Given the description of an element on the screen output the (x, y) to click on. 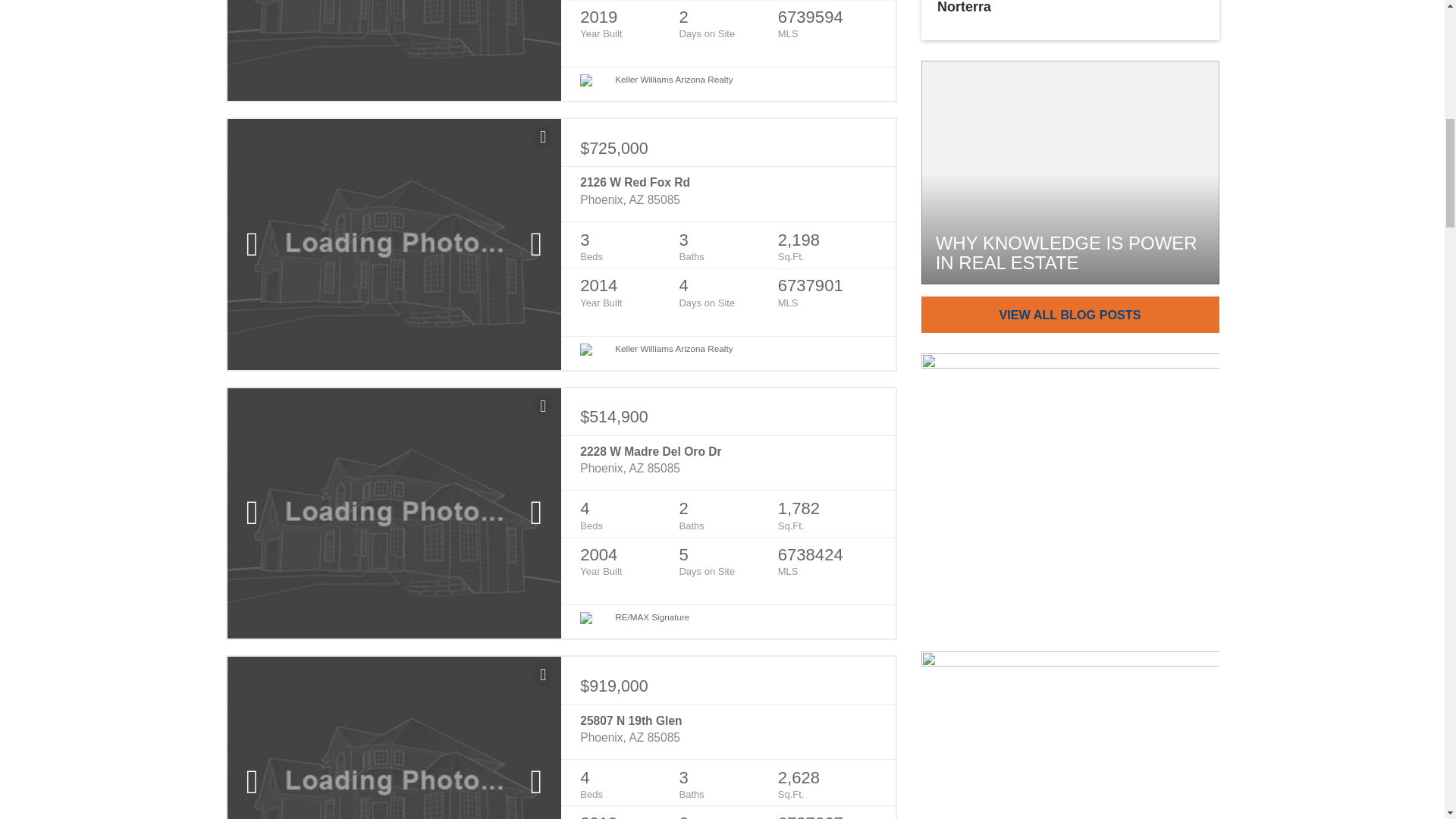
2228 W Madre Del Oro Dr Phoenix,  AZ 85085 (727, 460)
2126 W Red Fox Rd Phoenix,  AZ 85085 (727, 191)
